Given the description of an element on the screen output the (x, y) to click on. 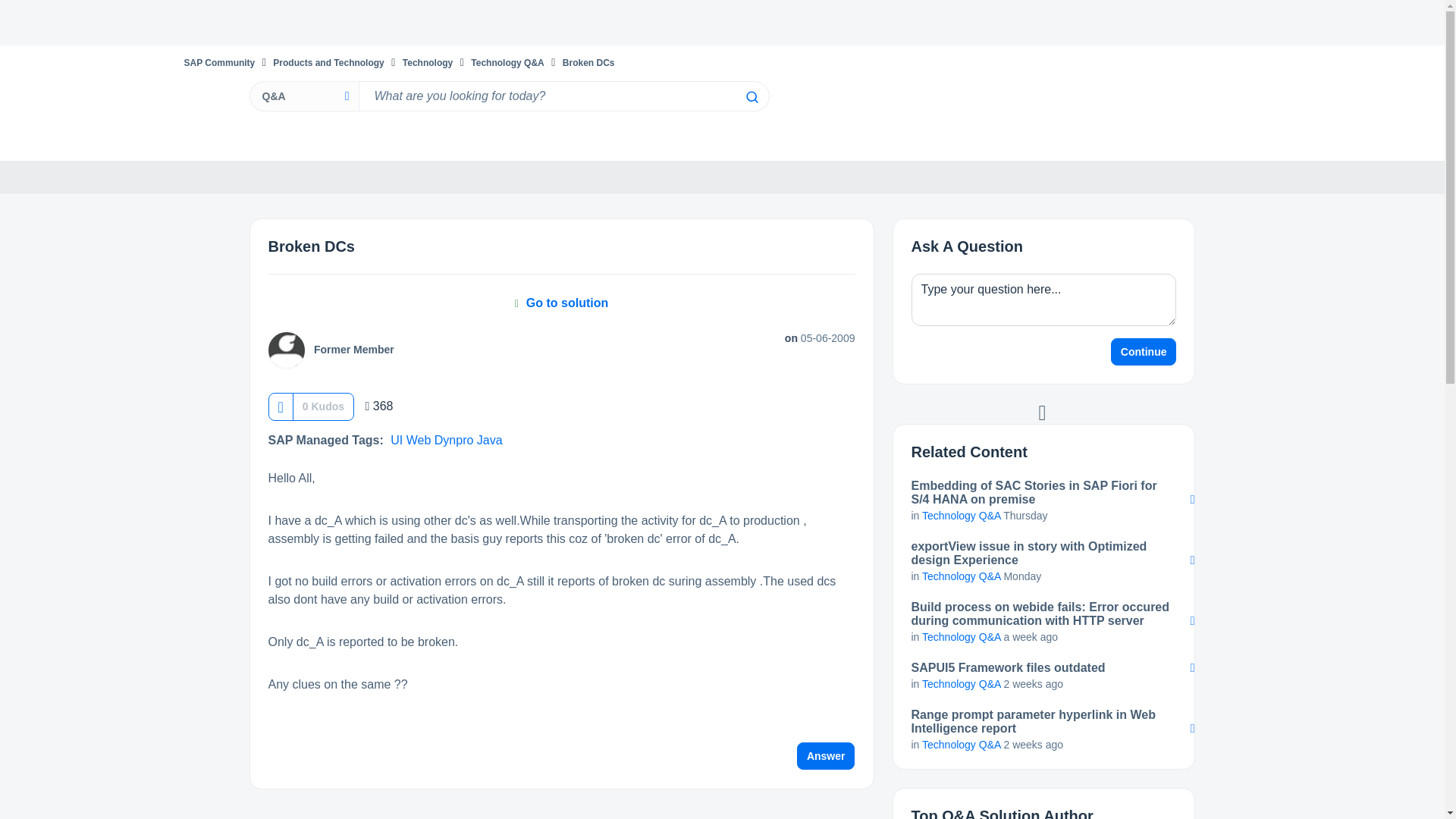
Answer (826, 755)
Search (750, 96)
Go to solution (561, 302)
UI Web Dynpro Java (446, 440)
SAP Community (218, 62)
Search (750, 96)
Click here to give kudos to this post. (279, 406)
Continue (1143, 351)
Search (563, 96)
Products and Technology (328, 62)
